Given the description of an element on the screen output the (x, y) to click on. 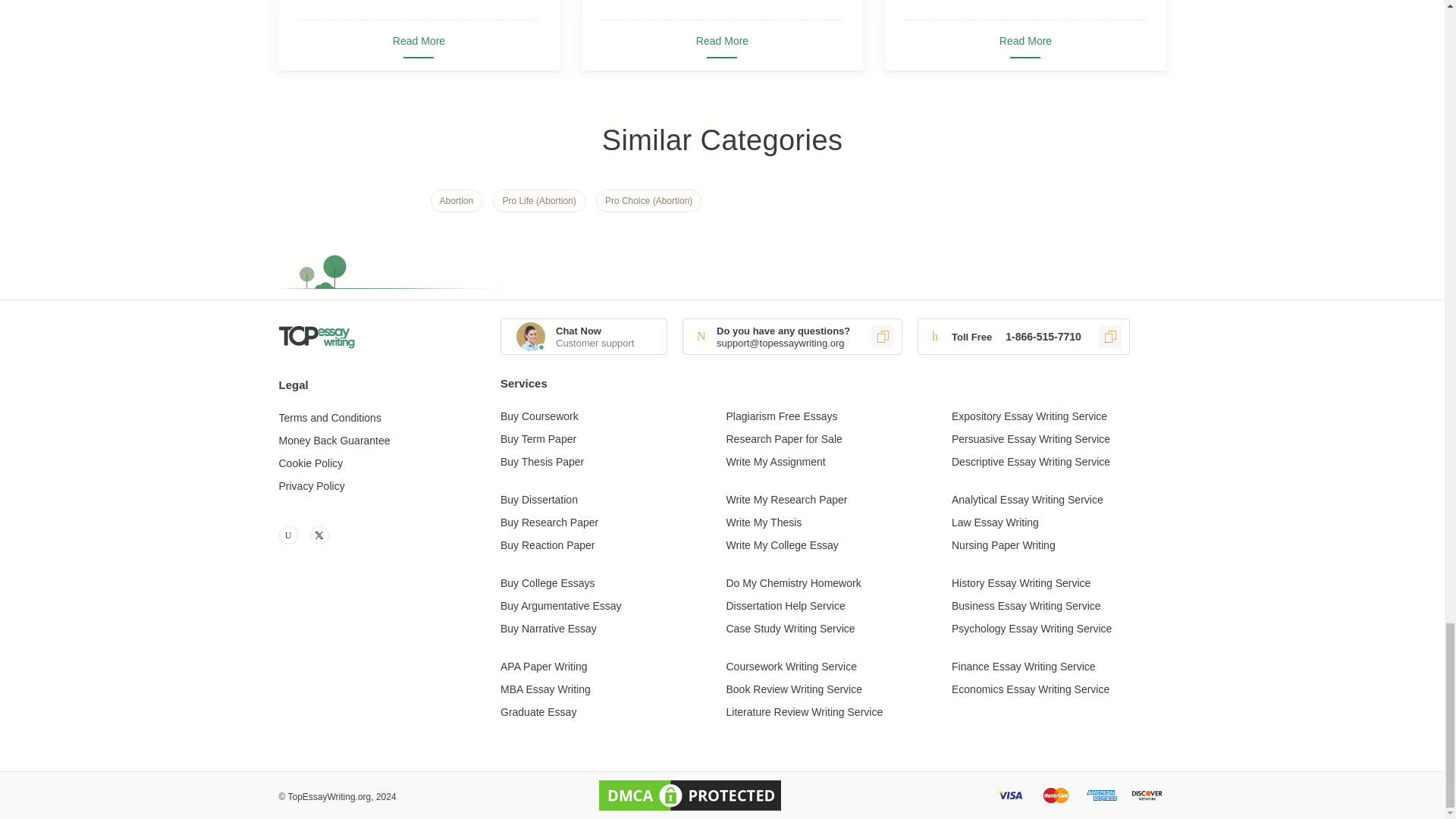
DMCA.com Protection Status (689, 795)
